Given the description of an element on the screen output the (x, y) to click on. 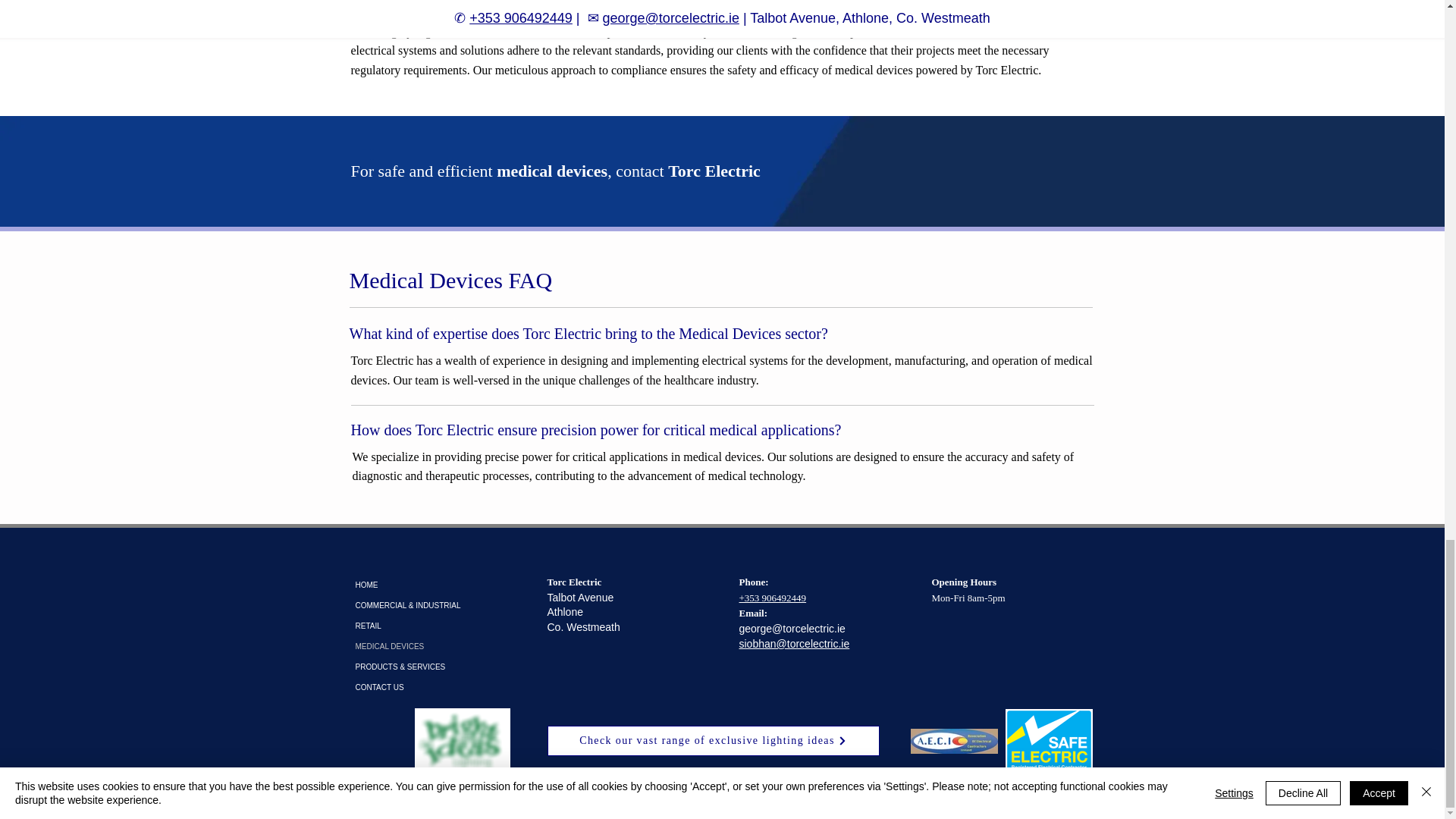
HOME (438, 584)
MEDICAL DEVICES (438, 646)
CONTACT US (438, 687)
RETAIL (438, 625)
Designed by FCR Media (722, 799)
Check our vast range of exclusive lighting ideas (713, 740)
